Given the description of an element on the screen output the (x, y) to click on. 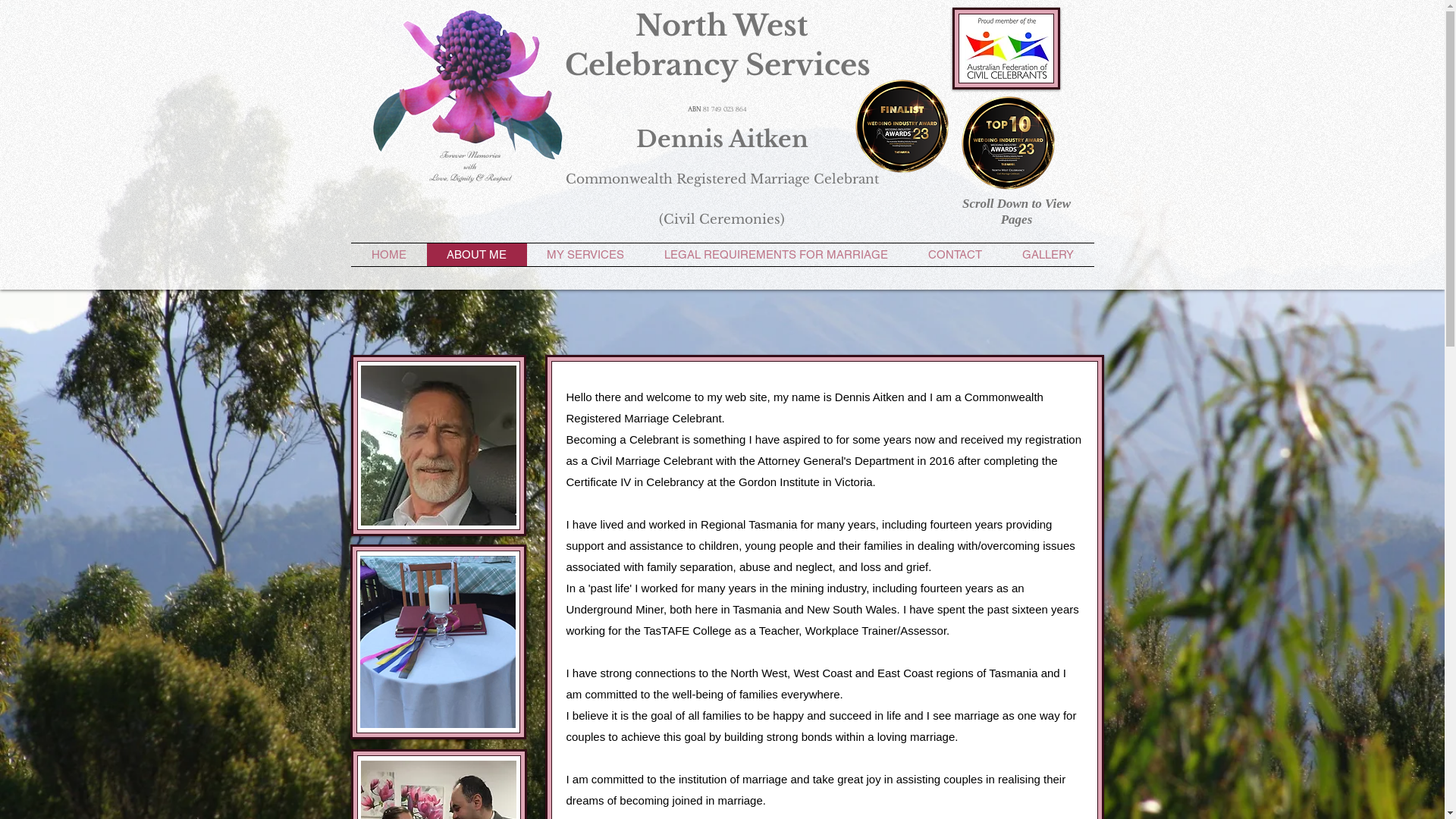
North-West-Celebrancy-TAS-TOP10 (1).png Element type: hover (1007, 142)
North West Element type: text (721, 25)
CONTACT Element type: text (955, 254)
GALLERY Element type: text (1048, 254)
  Element type: text (874, 63)
ABOUT ME Element type: text (476, 254)
MY SERVICES Element type: text (584, 254)
TAS-WIA-2023-Finalist.png Element type: hover (901, 125)
North West Marriage Celebrant 9 Element type: hover (469, 84)
Celebrancy Services Element type: text (717, 64)
LEGAL REQUIREMENTS FOR MARRIAGE Element type: text (776, 254)
HOME Element type: text (388, 254)
AFCC_logo_Proud_ME__1502492839_120.152.9 Element type: hover (1007, 48)
